Given the description of an element on the screen output the (x, y) to click on. 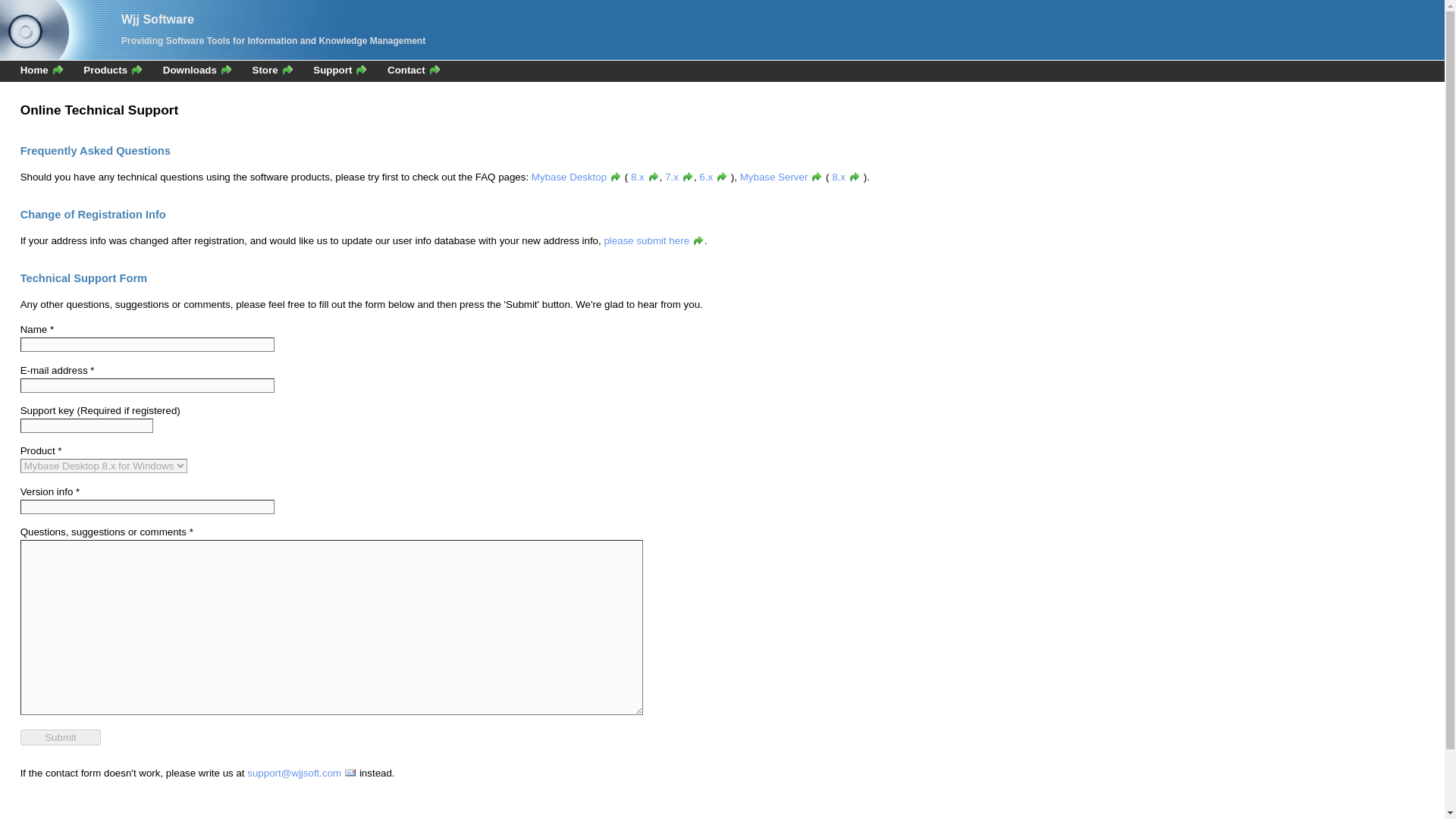
Submit (60, 737)
Submit (60, 737)
Mybase Desktop (576, 176)
6.x (713, 176)
Support (339, 70)
7.x (679, 176)
Contact (414, 70)
Products (112, 70)
8.x (845, 176)
Store (272, 70)
